Given the description of an element on the screen output the (x, y) to click on. 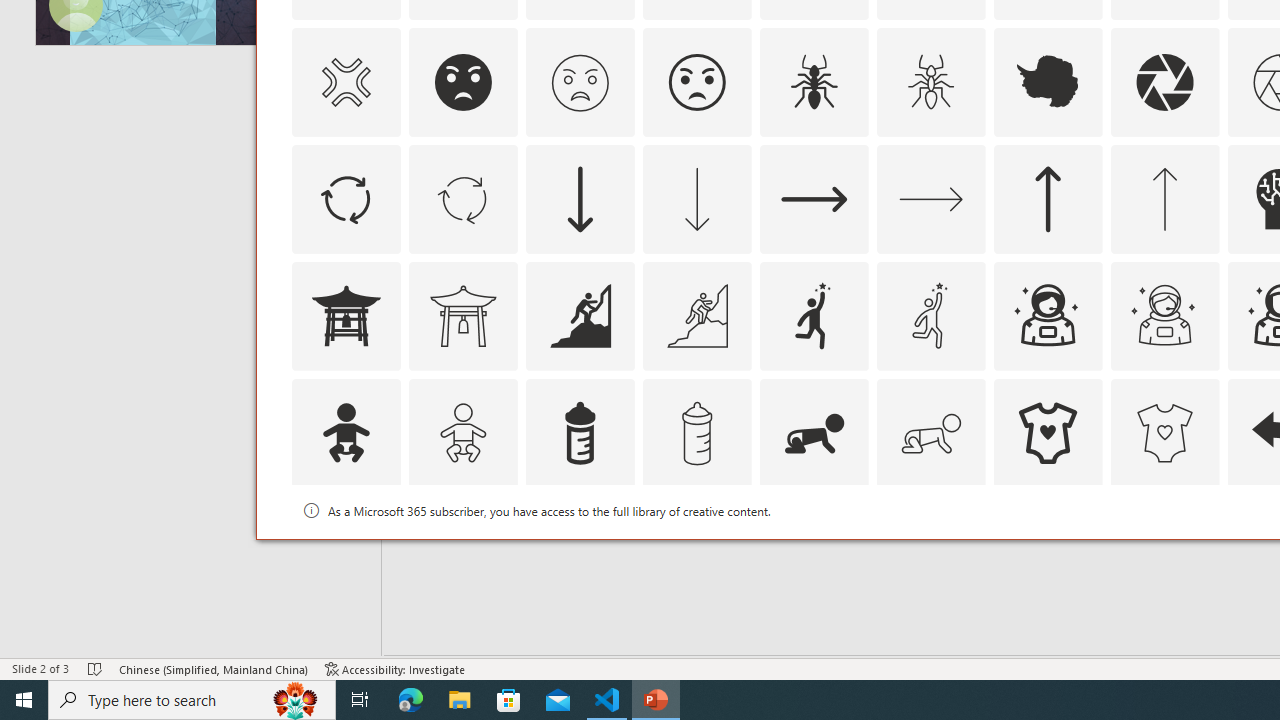
AutomationID: Icons_AngryFace_M (579, 82)
AutomationID: Icons_ArrowCircle_M (463, 198)
AutomationID: Icons (1048, 550)
AutomationID: Icons_Aspiration (579, 316)
AutomationID: Icons_Badge2_M (579, 550)
AutomationID: Icons_Badge4_M (1048, 550)
